Given the description of an element on the screen output the (x, y) to click on. 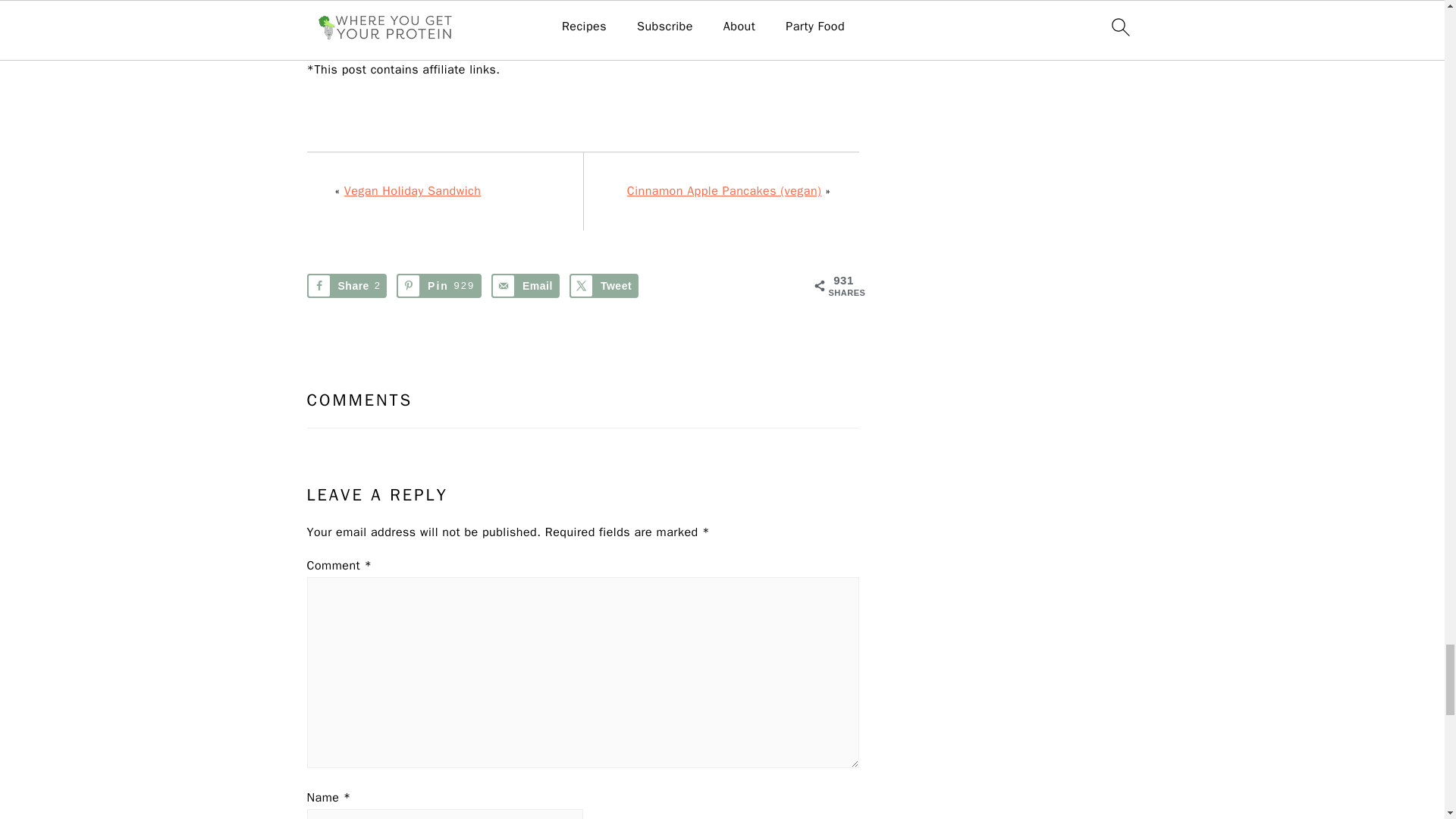
Share on X (604, 285)
Save to Pinterest (438, 285)
Share on Facebook (345, 285)
Send over email (525, 285)
